Given the description of an element on the screen output the (x, y) to click on. 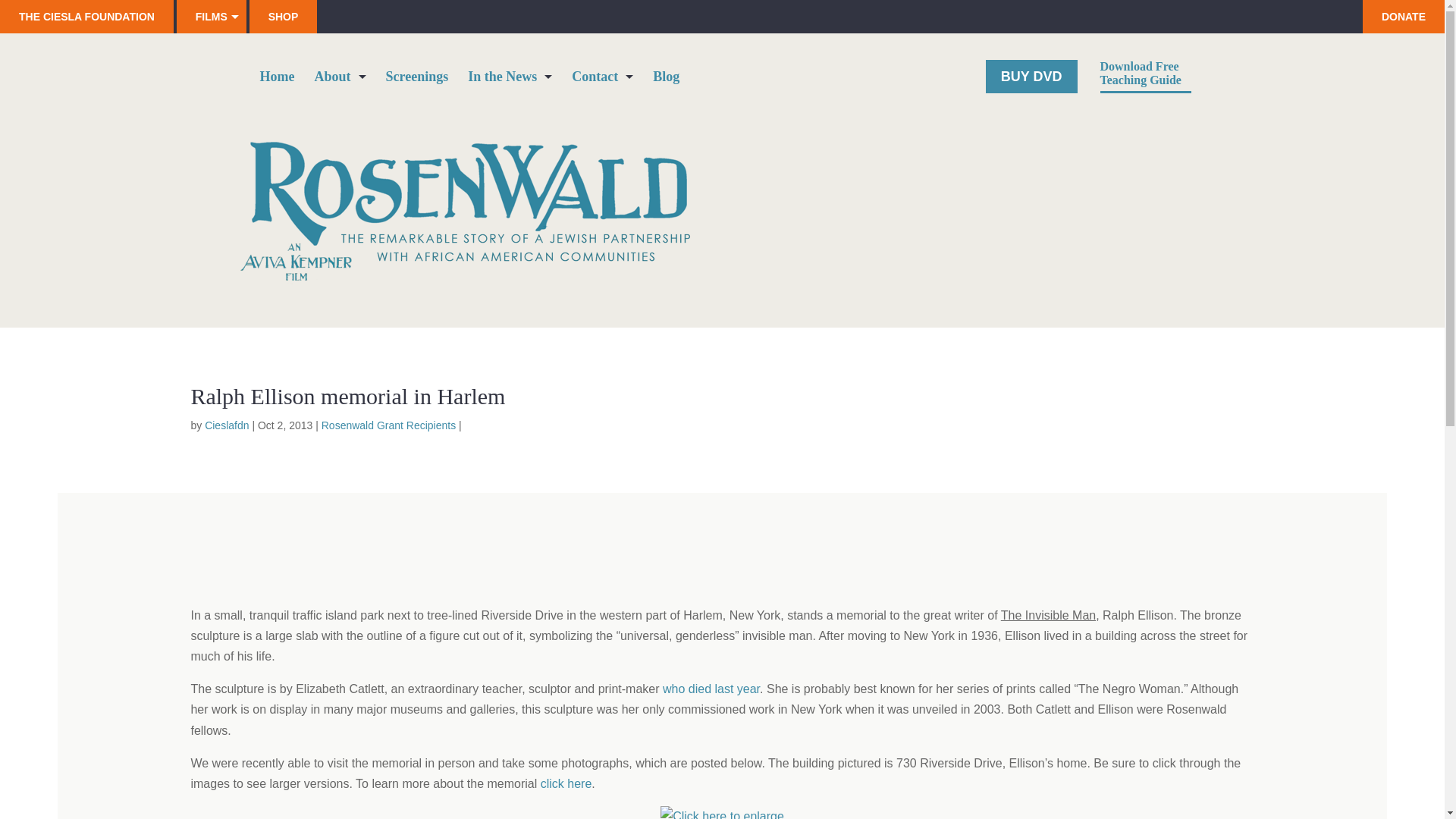
In the News (509, 82)
Contact (602, 82)
Blog (665, 82)
Posts by Cieslafdn (226, 425)
THE CIESLA FOUNDATION (86, 16)
FILMS (211, 16)
Screenings (416, 82)
BUY DVD (1031, 76)
About (339, 82)
SHOP (282, 16)
